Given the description of an element on the screen output the (x, y) to click on. 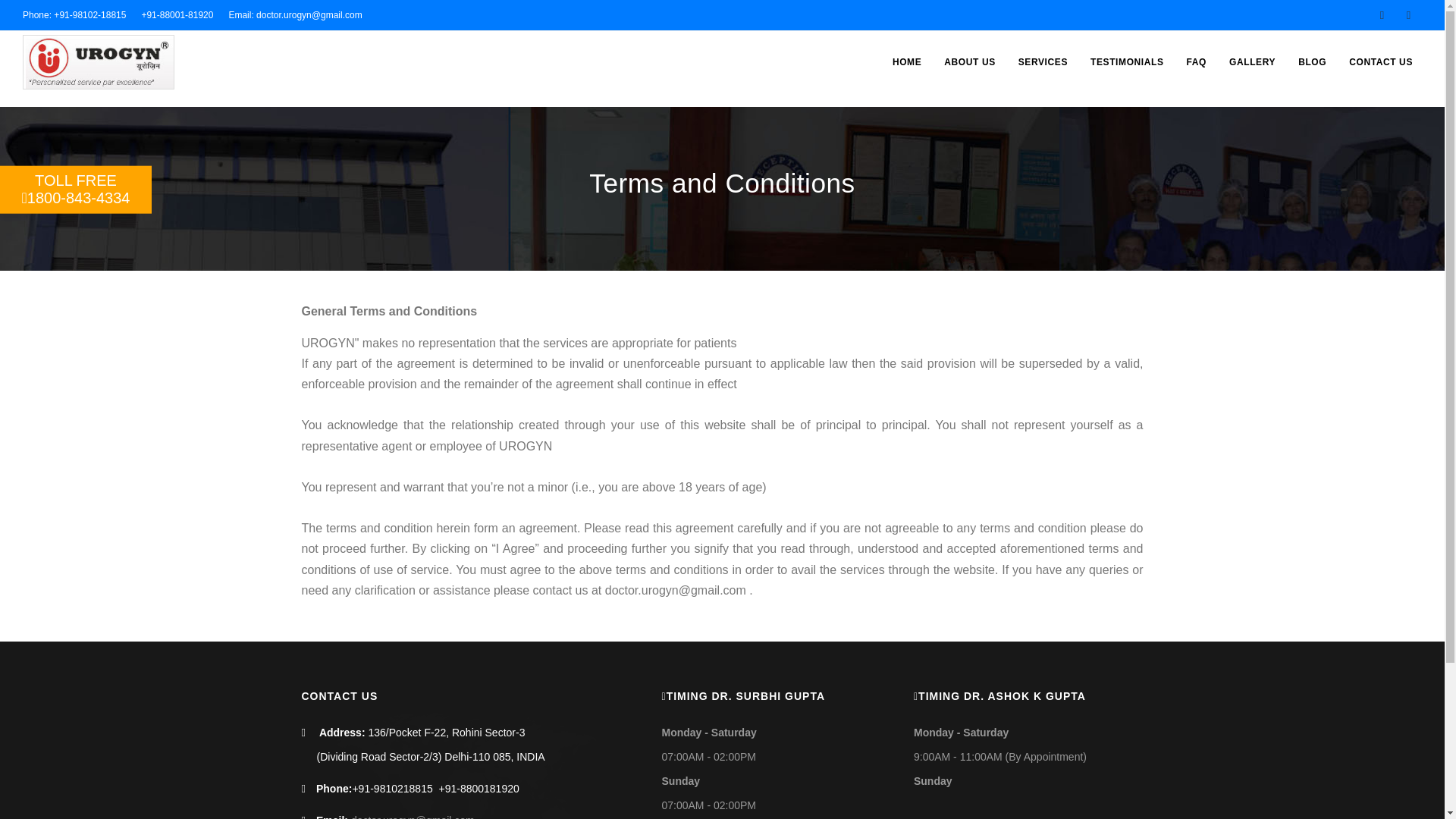
HOME (906, 62)
SERVICES (1043, 62)
ABOUT US (75, 189)
